Given the description of an element on the screen output the (x, y) to click on. 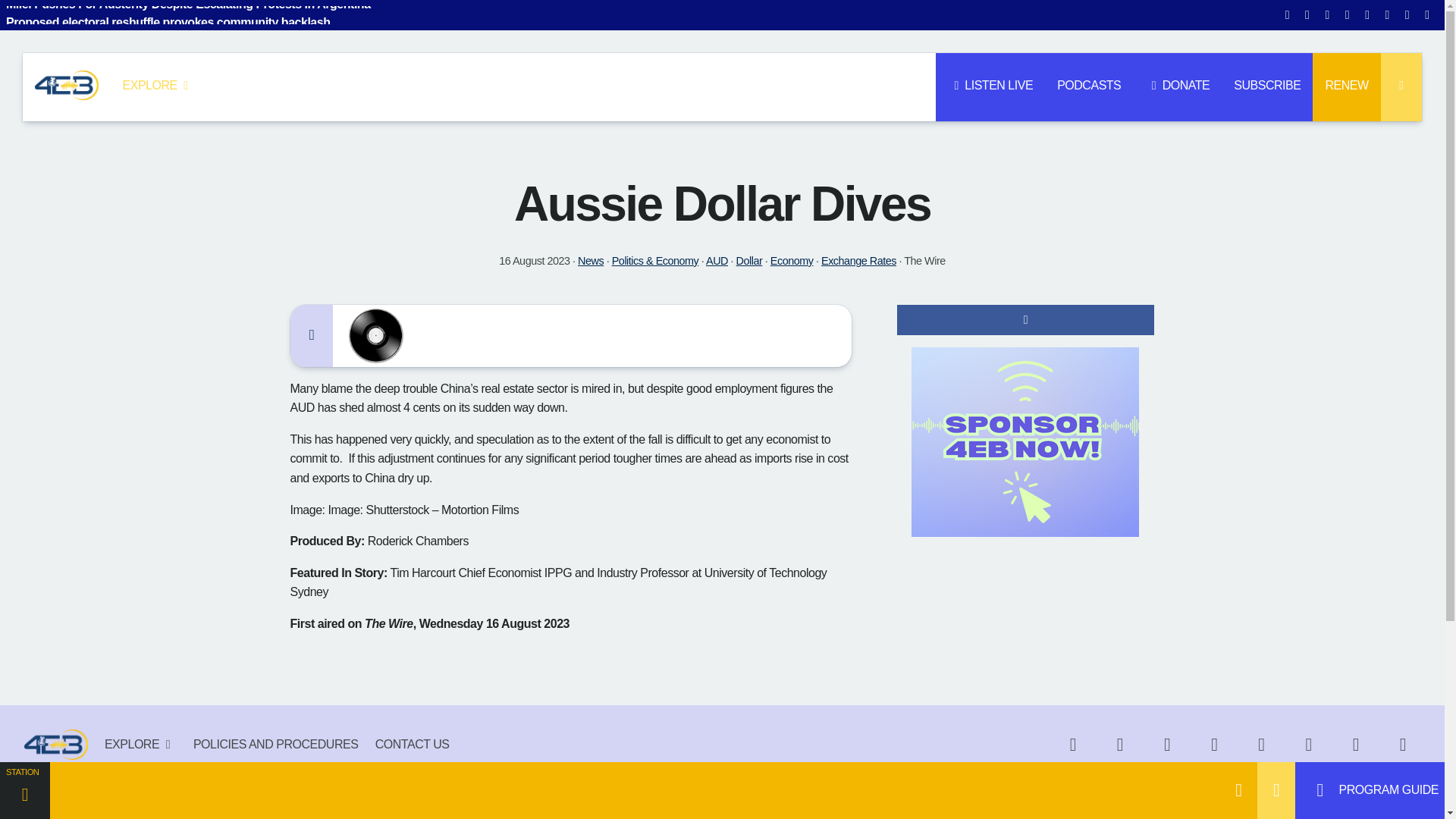
SUBSCRIBE (1267, 87)
DONATE (1176, 87)
RENEW (1346, 87)
